Given the description of an element on the screen output the (x, y) to click on. 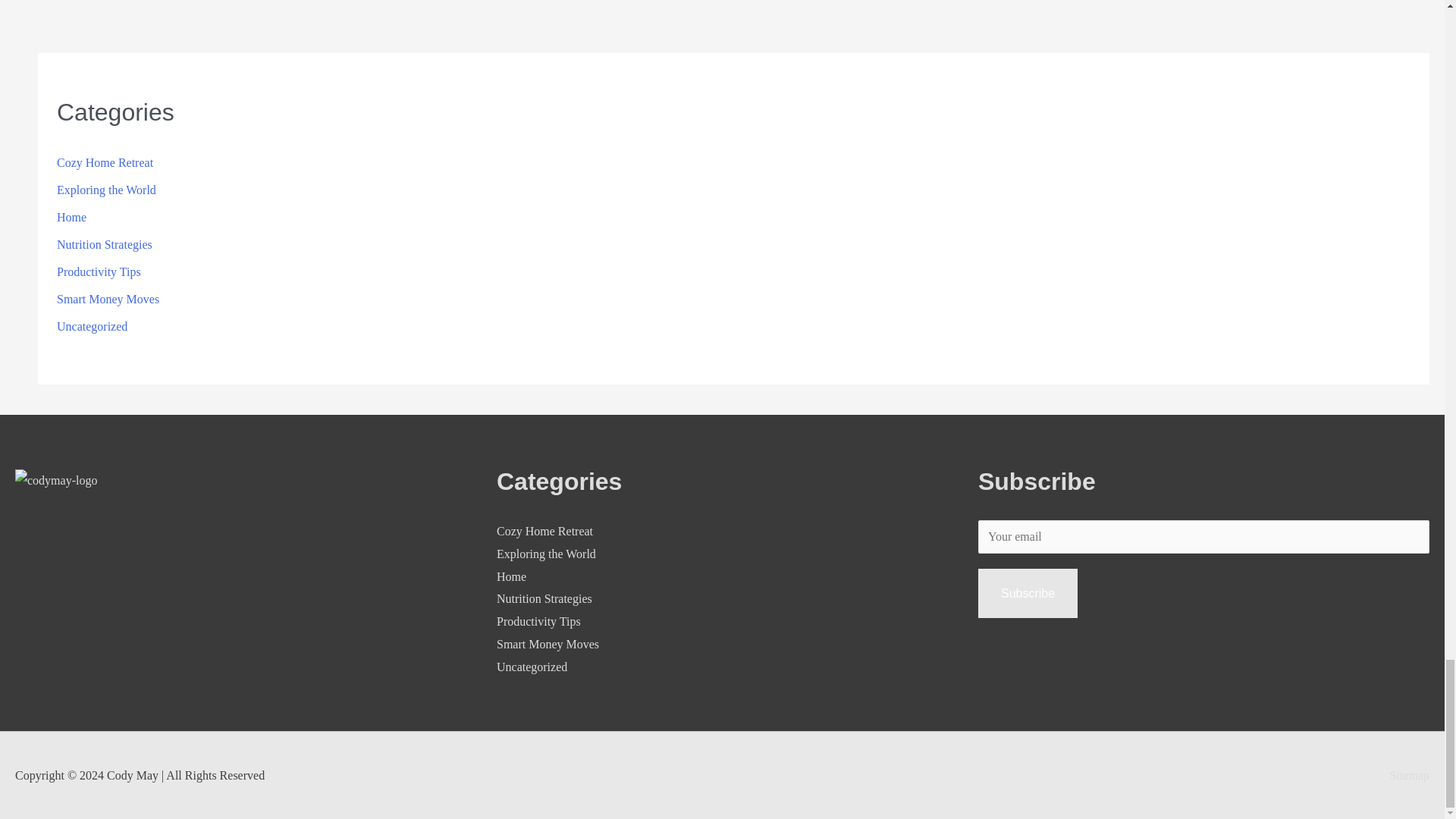
Productivity Tips (538, 621)
Exploring the World (545, 553)
Uncategorized (531, 666)
Home (510, 576)
Nutrition Strategies (104, 244)
Cozy Home Retreat (544, 530)
Exploring the World (105, 189)
Subscribe (1027, 593)
Smart Money Moves (547, 644)
Uncategorized (92, 326)
Smart Money Moves (107, 298)
Subscribe (1027, 593)
Sitemap (1403, 775)
Home (70, 216)
Productivity Tips (98, 271)
